Given the description of an element on the screen output the (x, y) to click on. 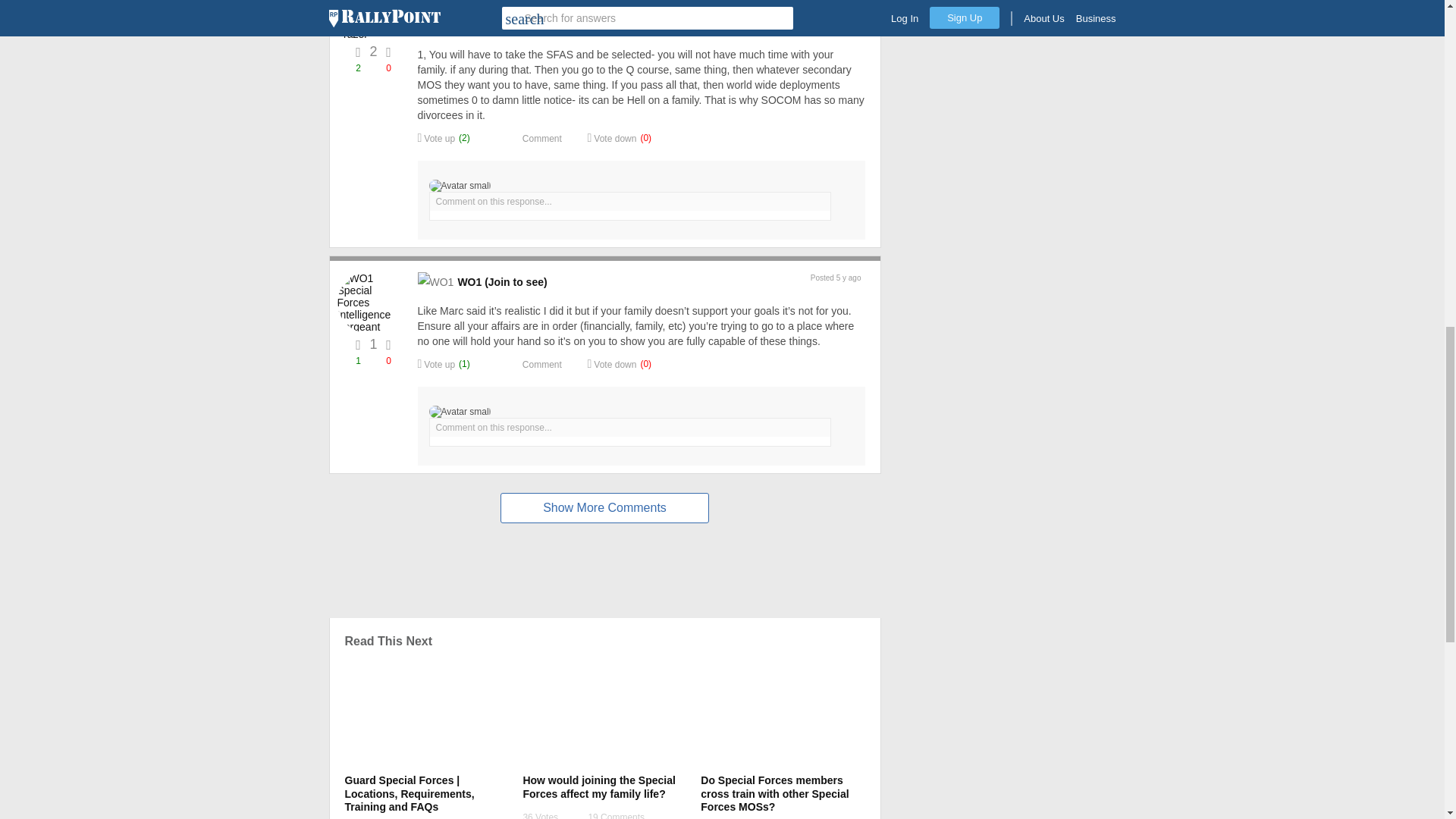
Vote up (435, 137)
Bill Frazer (368, 27)
View all members of this rank (469, 25)
Bill Frazer (509, 25)
SGM (469, 25)
SGM (434, 25)
